Given the description of an element on the screen output the (x, y) to click on. 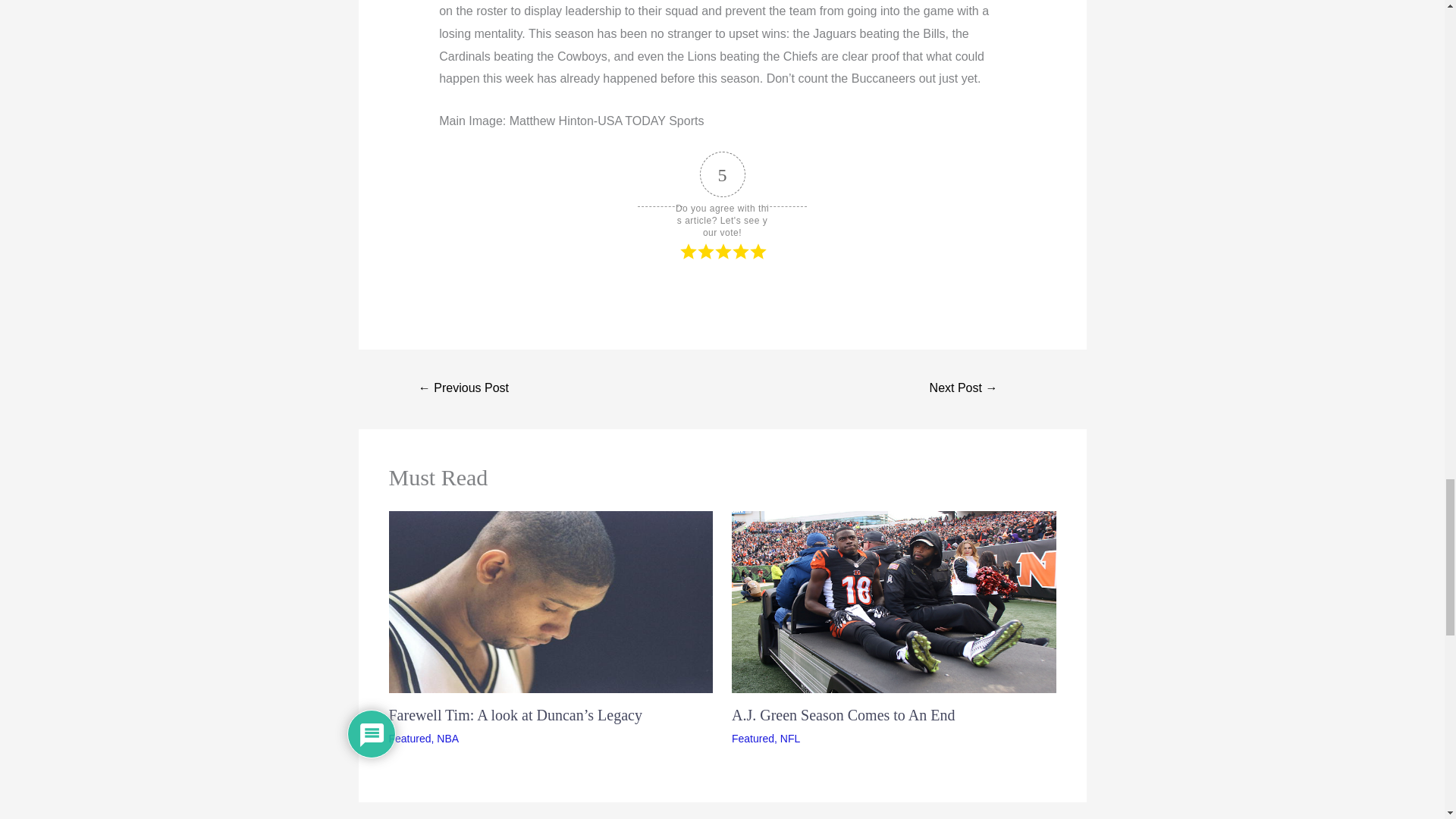
6 Notes Heading into Jets vs Eagles (962, 388)
A.J. Green Season Comes to An End (843, 714)
Featured (409, 738)
NBA (447, 738)
